Given the description of an element on the screen output the (x, y) to click on. 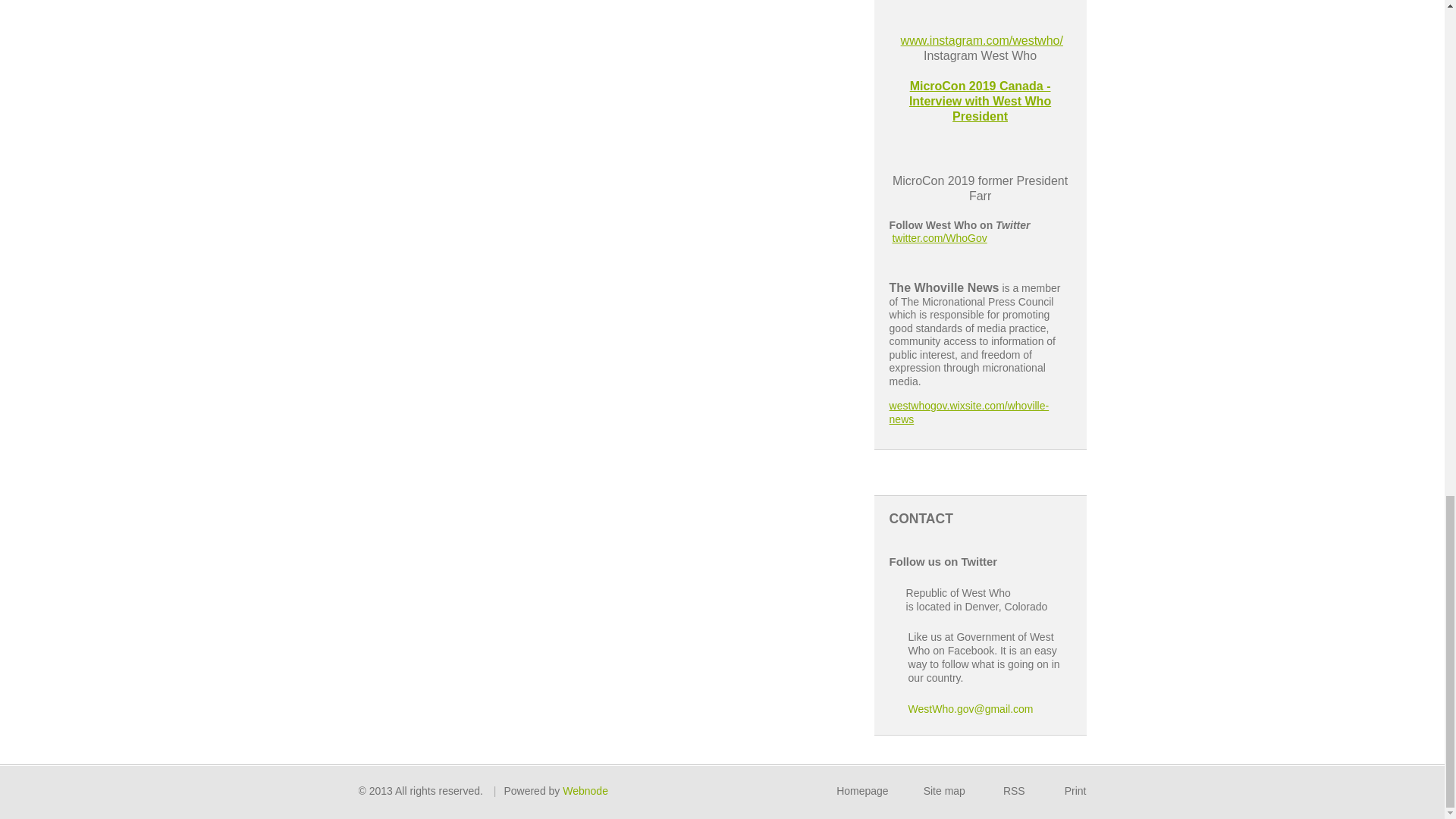
Print page (1075, 790)
Go to Homepage. (861, 790)
Print (1075, 790)
MicroCon 2019 Canada - Interview with West Who President (979, 100)
RSS (1014, 790)
Webnode (585, 790)
Go to site map. (944, 790)
Site map (944, 790)
Homepage (861, 790)
RSS Feeds (1014, 790)
